Given the description of an element on the screen output the (x, y) to click on. 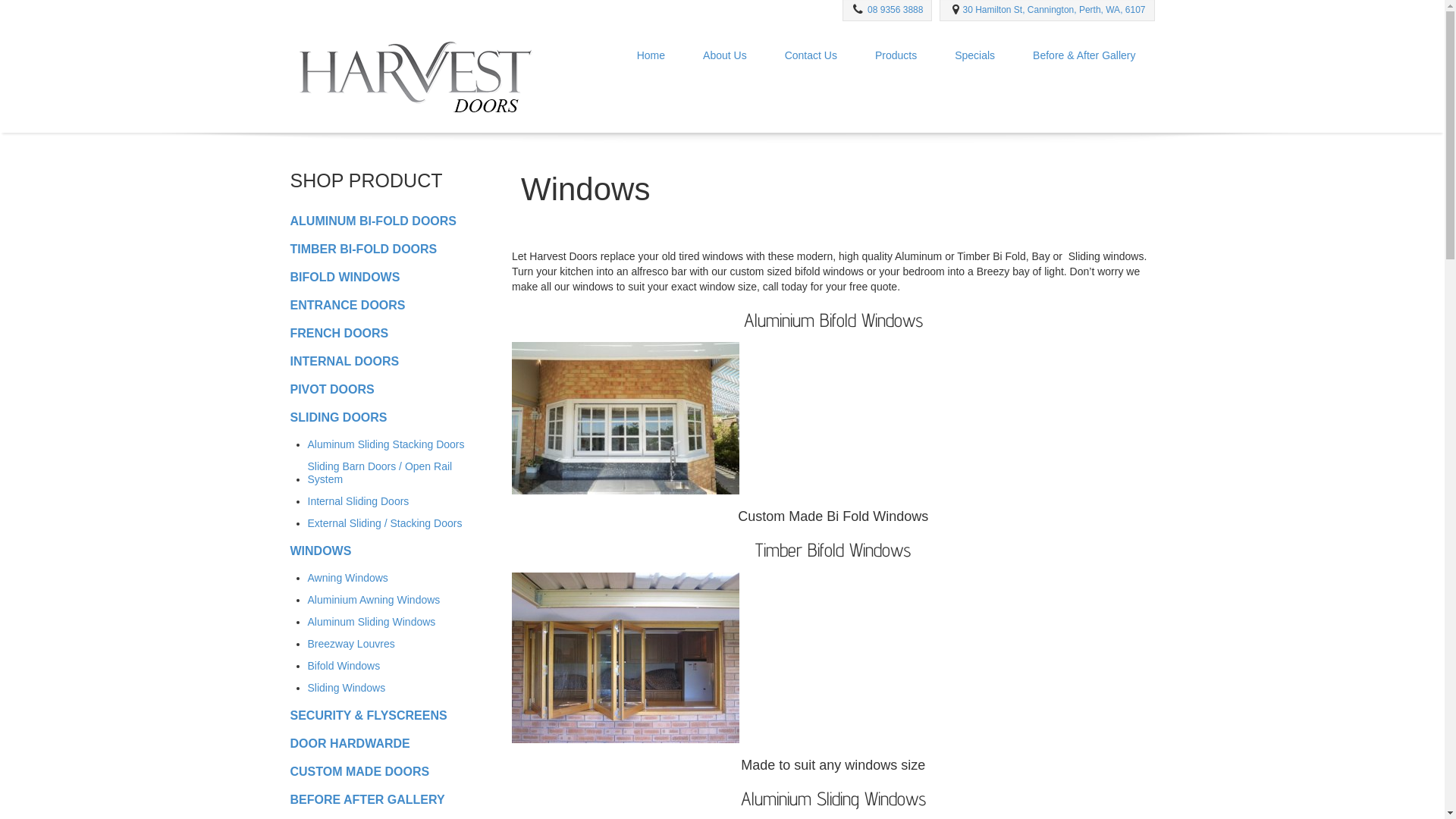
Breezway Louvres Element type: text (351, 643)
4 Window Bi-fold 2 Element type: hover (625, 657)
Sliding Barn Doors / Open Rail System Element type: text (388, 472)
SECURITY & FLYSCREENS Element type: text (367, 714)
SLIDING DOORS Element type: text (337, 417)
TIMBER BI-FOLD DOORS Element type: text (362, 249)
CUSTOM MADE DOORS Element type: text (359, 770)
INTERNAL DOORS Element type: text (343, 361)
30 Hamilton St, Cannington, Perth, WA, 6107 Element type: text (1053, 9)
ENTRANCE DOORS Element type: text (346, 305)
About Us Element type: text (724, 55)
External Sliding / Stacking Doors Element type: text (384, 523)
Bifold Windows Element type: text (343, 666)
Harvest Doors -  Element type: hover (413, 74)
Internal Sliding Doors Element type: text (358, 500)
Before & After Gallery Element type: text (1083, 55)
BIFOLD WINDOWS Element type: text (344, 276)
Awning Windows Element type: text (347, 578)
Contact Us Element type: text (810, 55)
BEFORE AFTER GALLERY Element type: text (366, 799)
Aluminium Awning Windows Element type: text (373, 599)
PIVOT DOORS Element type: text (331, 388)
Aluminum Sliding Windows Element type: text (371, 622)
Sliding Windows Element type: text (346, 687)
WINDOWS Element type: text (320, 550)
BA2 Element type: hover (625, 418)
ALUMINUM BI-FOLD DOORS Element type: text (372, 220)
DOOR HARDWARDE Element type: text (349, 743)
FRENCH DOORS Element type: text (338, 332)
Specials Element type: text (974, 55)
Products Element type: text (895, 55)
08 9356 3888 Element type: text (894, 9)
Home Element type: text (651, 55)
Aluminum Sliding Stacking Doors Element type: text (385, 444)
